Given the description of an element on the screen output the (x, y) to click on. 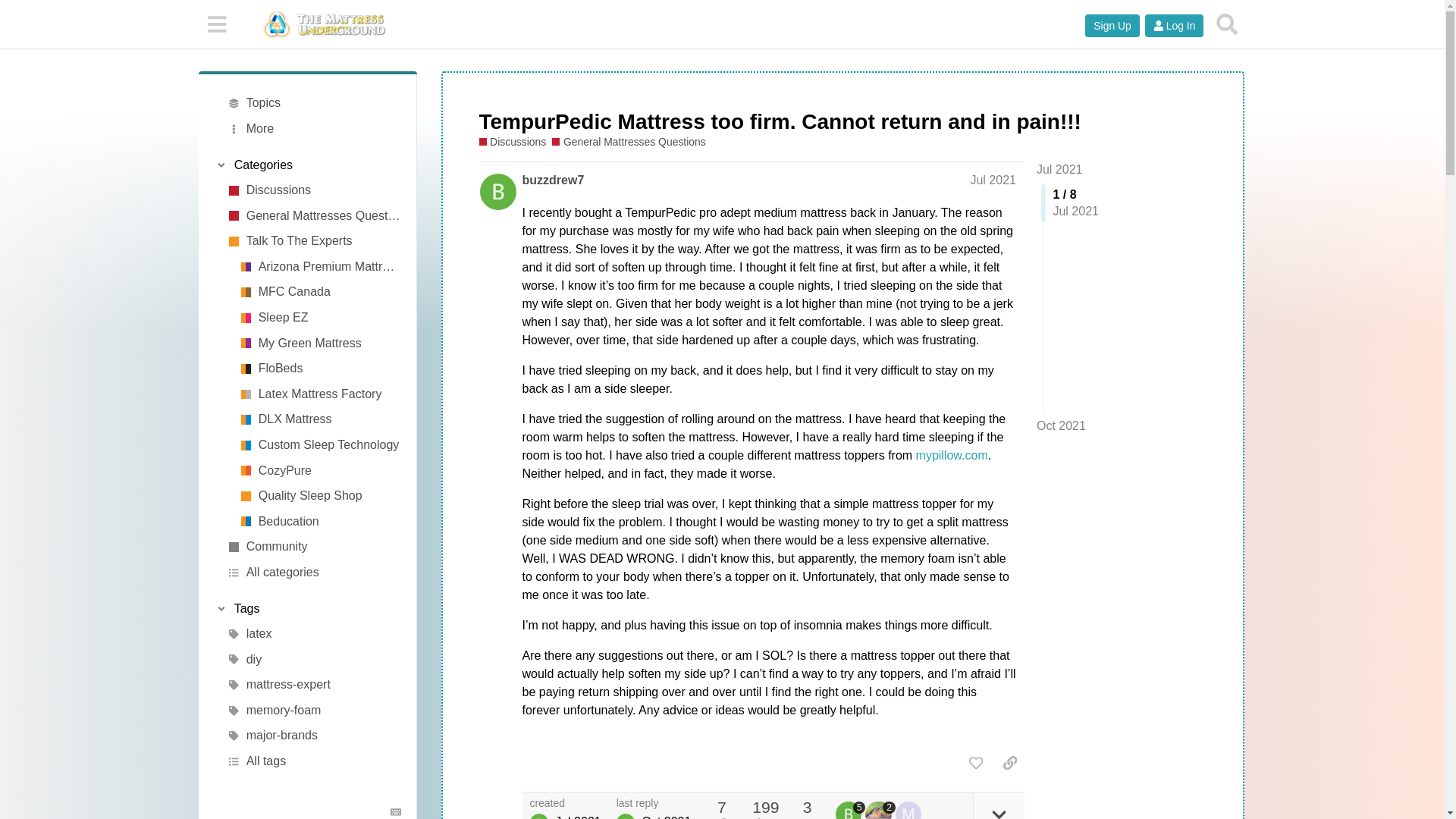
Toggle section (307, 165)
All topics (313, 103)
major-brands (313, 736)
Latex Mattress Factory (319, 394)
Sleep EZ (319, 317)
Topics (313, 103)
DLX Mattress (319, 420)
CozyPure (319, 470)
diy (313, 659)
More (313, 128)
mattress-expert (313, 685)
General Mattresses Questions (627, 142)
Jul 2021 (1059, 169)
Welcome to The Mattress Underground Discussion Forum! (313, 190)
Custom Sleep Technology (319, 444)
